Given the description of an element on the screen output the (x, y) to click on. 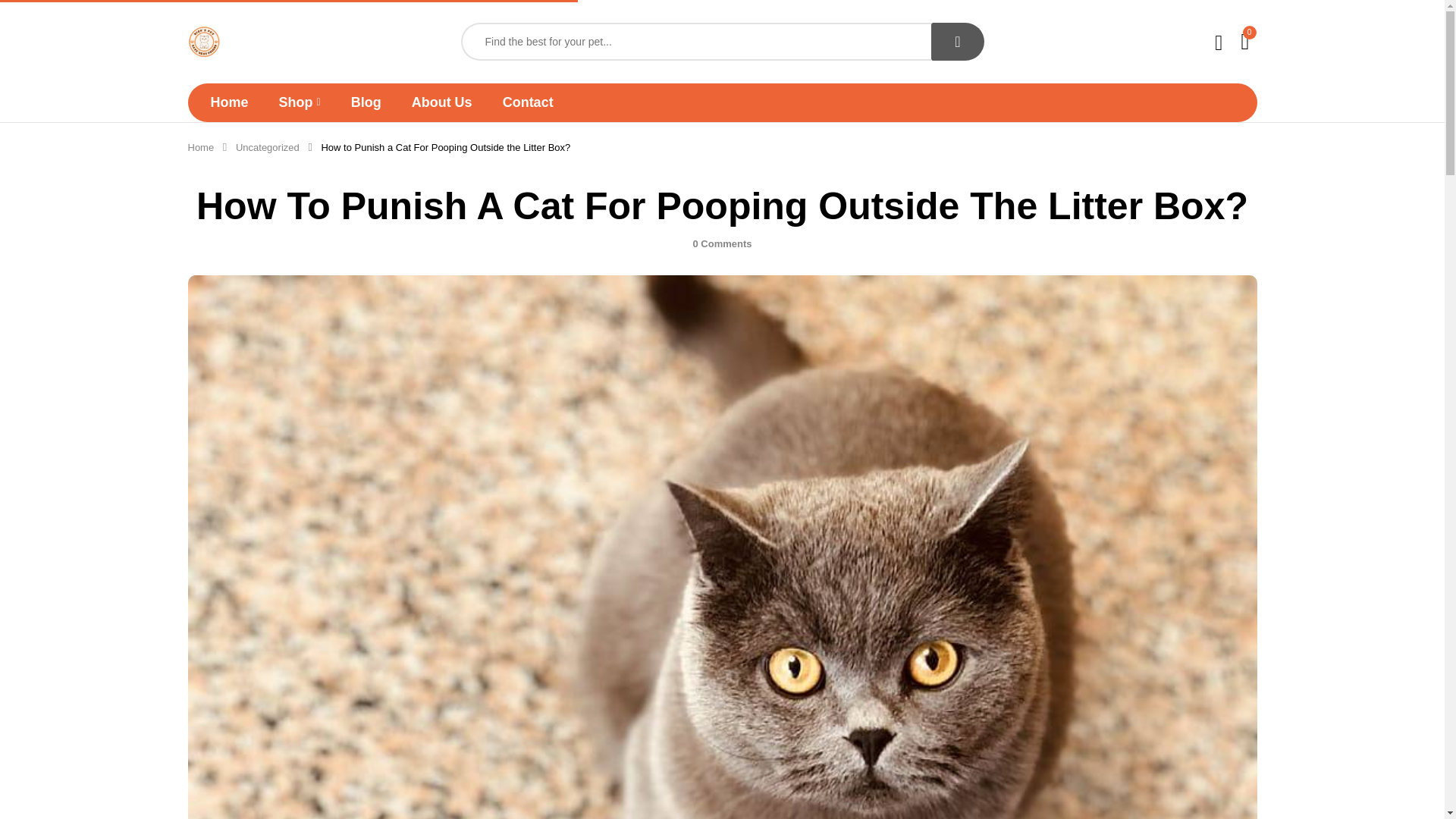
Uncategorized (267, 147)
Blog (365, 102)
Home (229, 102)
Home (200, 147)
Shop (299, 102)
search (957, 41)
0 Comments (722, 243)
Contact (527, 102)
About Us (441, 102)
